Given the description of an element on the screen output the (x, y) to click on. 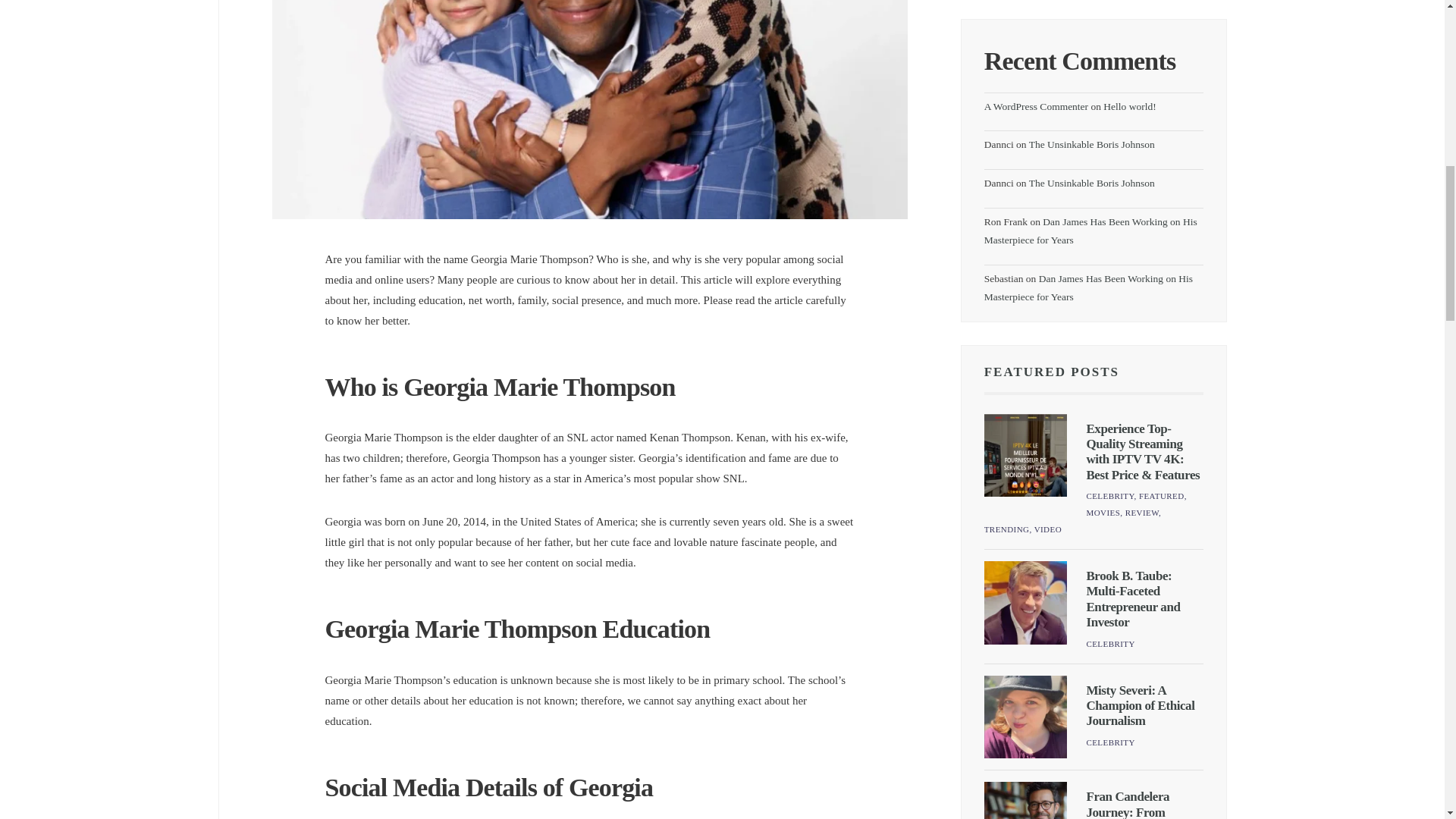
Brook B. Taube: Multi-Faceted Entrepreneur and Investor (1025, 602)
Misty Severi: A Champion of Ethical Journalism (1025, 717)
Hello world! (1129, 106)
Brook B. Taube: Multi-Faceted Entrepreneur and Investor (1132, 598)
The Unsinkable Boris Johnson (1091, 183)
CELEBRITY (1110, 495)
FEATURED POSTS (1051, 371)
MOVIES (1102, 511)
Misty Severi: A Champion of Ethical Journalism (1139, 705)
TRENDING (1006, 528)
